Given the description of an element on the screen output the (x, y) to click on. 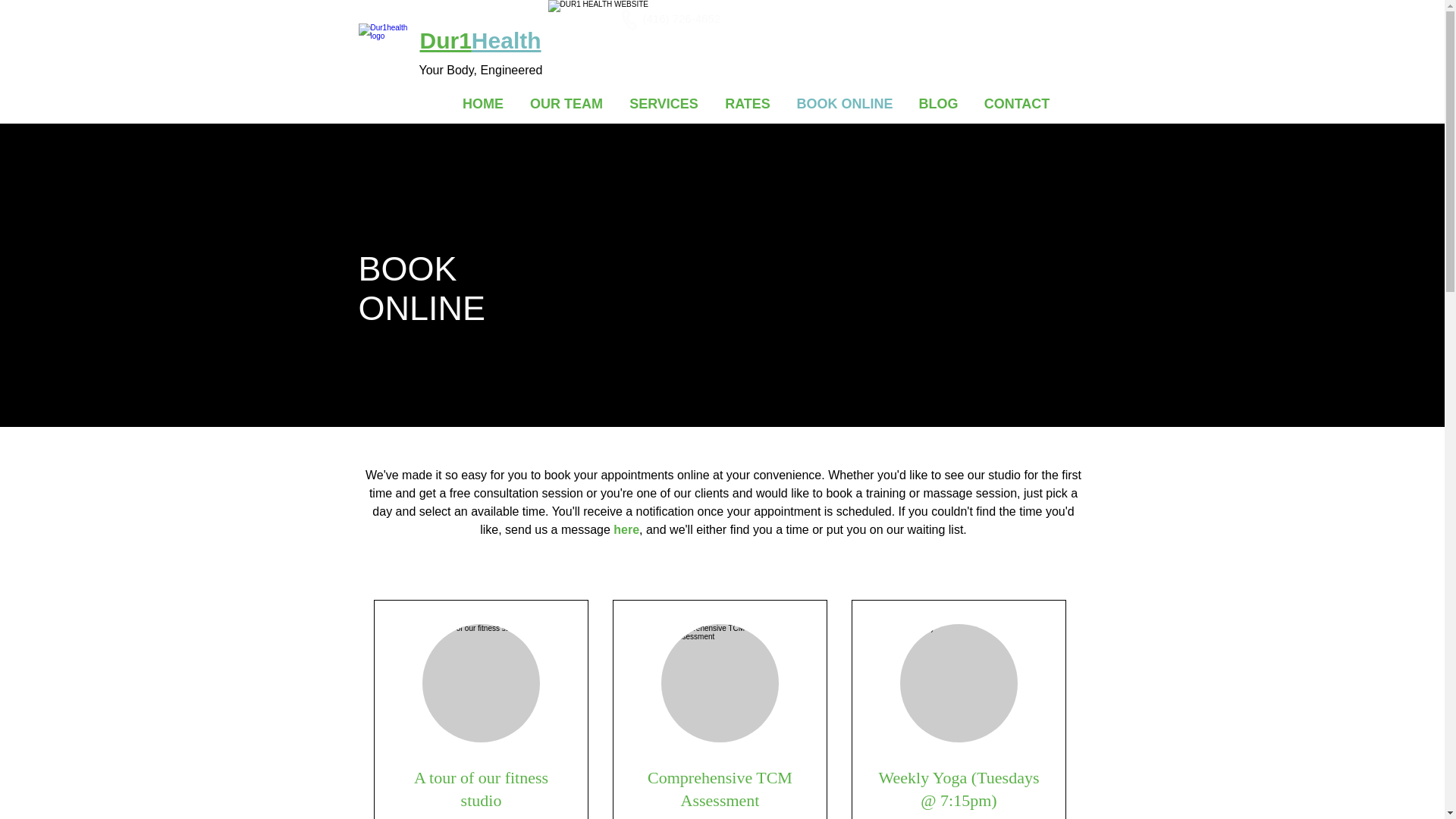
BOOK ONLINE (844, 103)
HOME (482, 103)
CONTACT (1016, 103)
242 Lesmill Road, North York, M3B 2T5 (907, 18)
SERVICES (663, 103)
A tour of our fitness studio (480, 788)
here (625, 529)
RATES (747, 103)
OUR TEAM (565, 103)
BLOG (938, 103)
Comprehensive TCM Assessment (720, 788)
Dur1Health (480, 40)
